Given the description of an element on the screen output the (x, y) to click on. 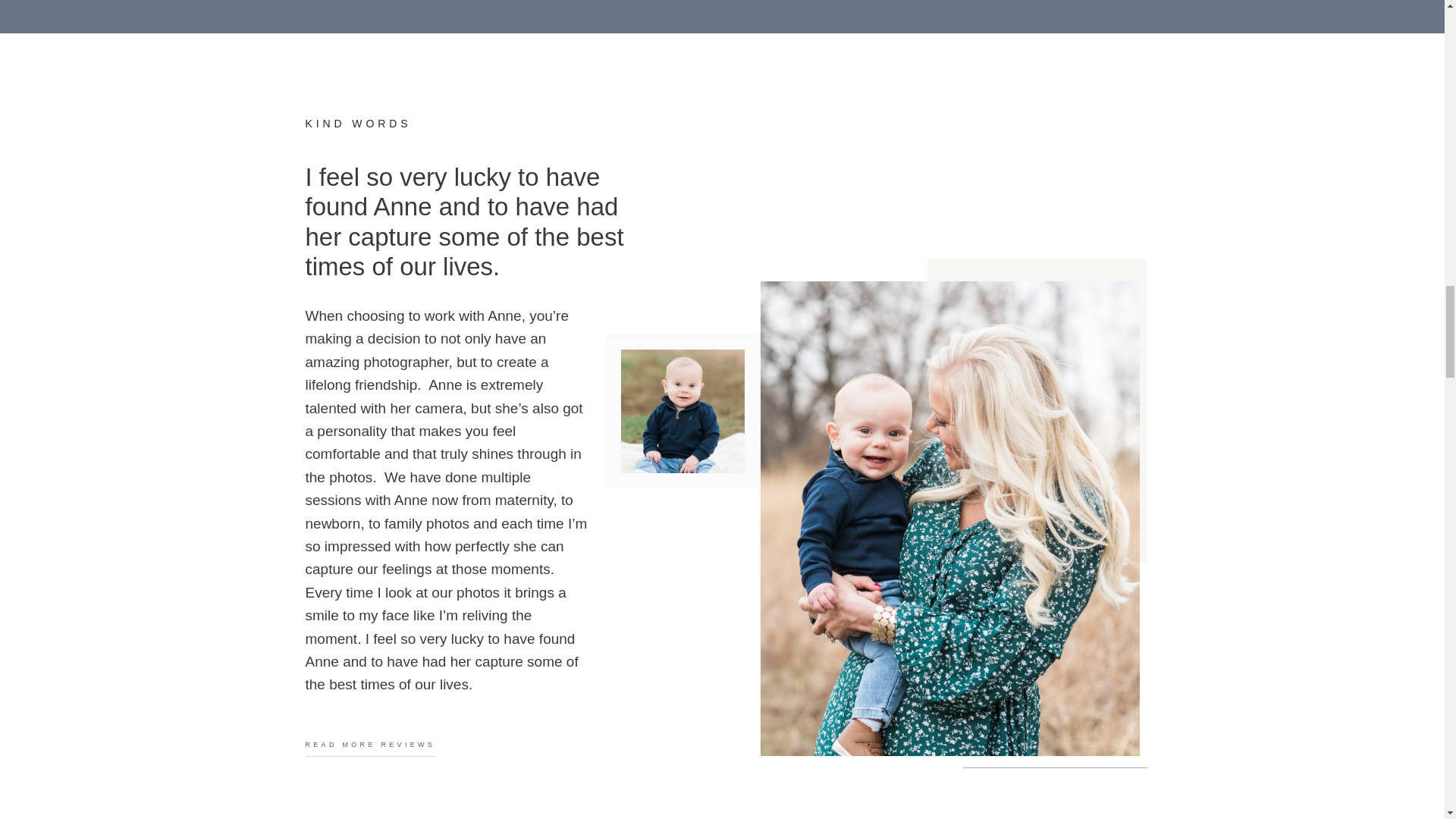
1acacp-23 (682, 411)
READ MORE REVIEWS (369, 747)
